Given the description of an element on the screen output the (x, y) to click on. 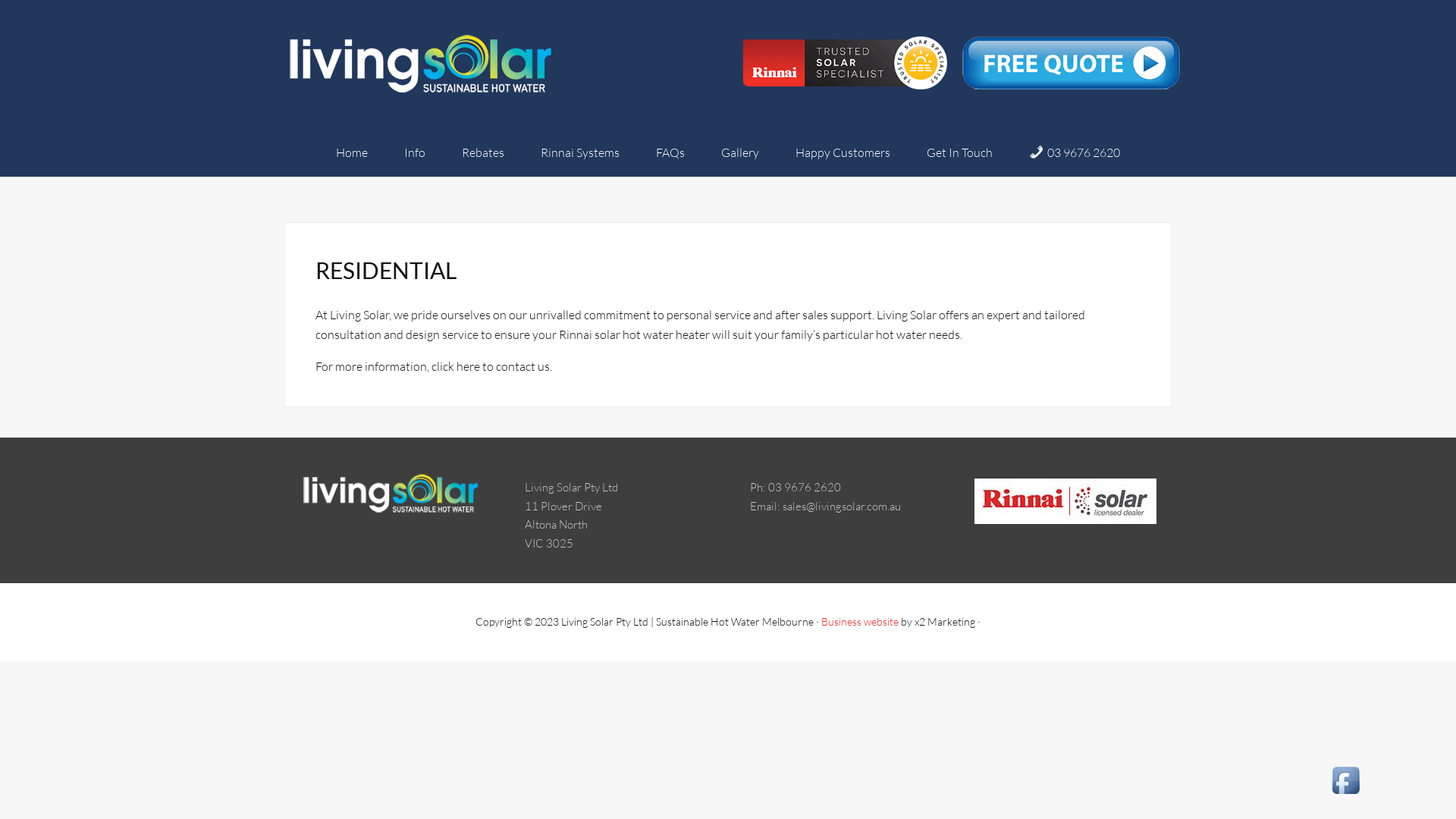
LIVING SOLAR Element type: text (420, 63)
03 9676 2620 Element type: text (1074, 152)
Home Element type: text (351, 152)
Gallery Element type: text (739, 152)
sales@livingsolar.com.au Element type: text (841, 505)
Get In Touch Element type: text (959, 152)
Rinnai Systems Element type: text (579, 152)
Rebates Element type: text (482, 152)
Visit Us On Facebook Element type: hover (1345, 793)
FAQs Element type: text (669, 152)
Info Element type: text (414, 152)
Happy Customers Element type: text (842, 152)
Business website Element type: text (859, 621)
